Given the description of an element on the screen output the (x, y) to click on. 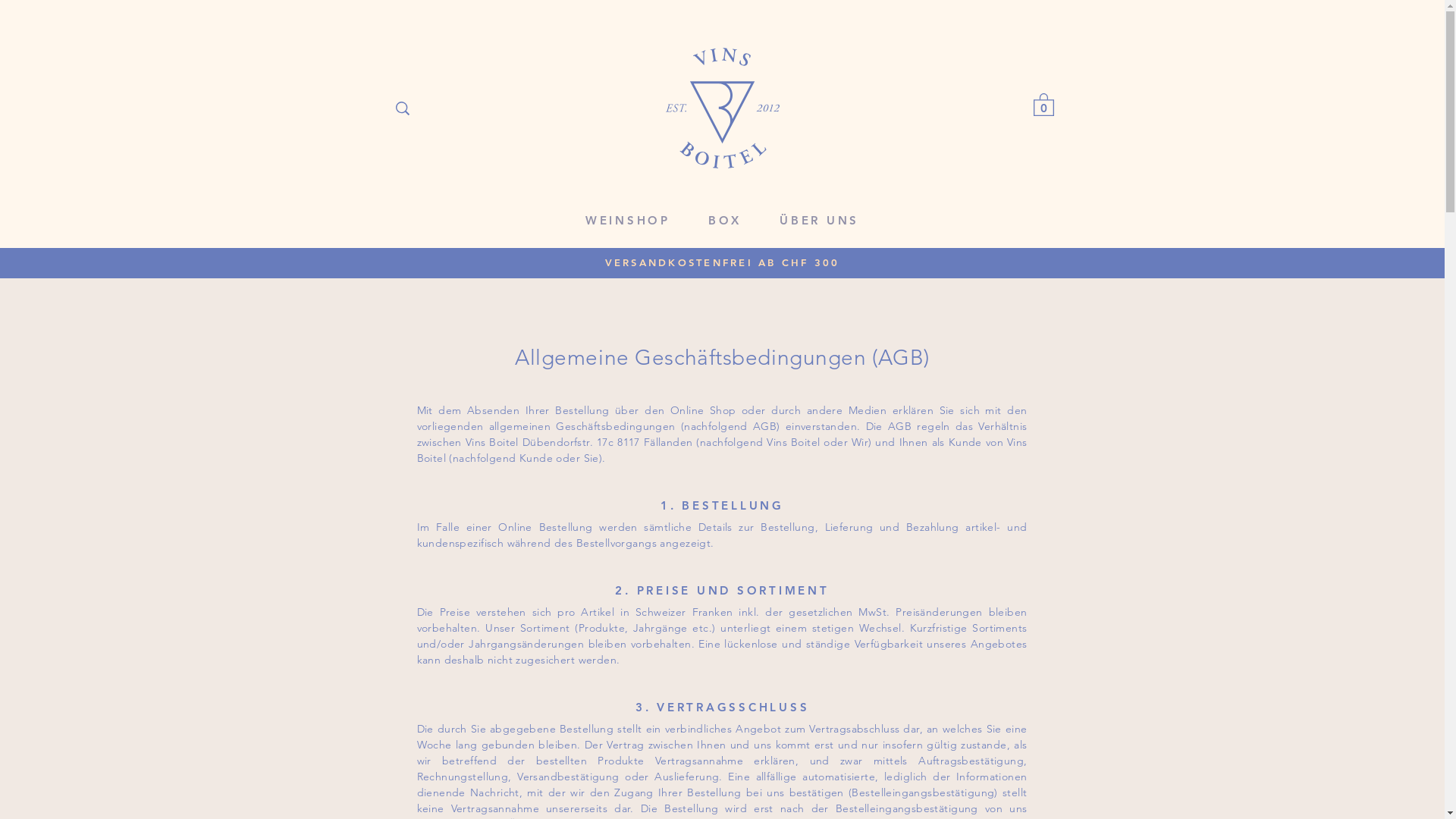
BOX Element type: text (724, 220)
WEINSHOP Element type: text (627, 220)
0 Element type: text (1042, 103)
